Given the description of an element on the screen output the (x, y) to click on. 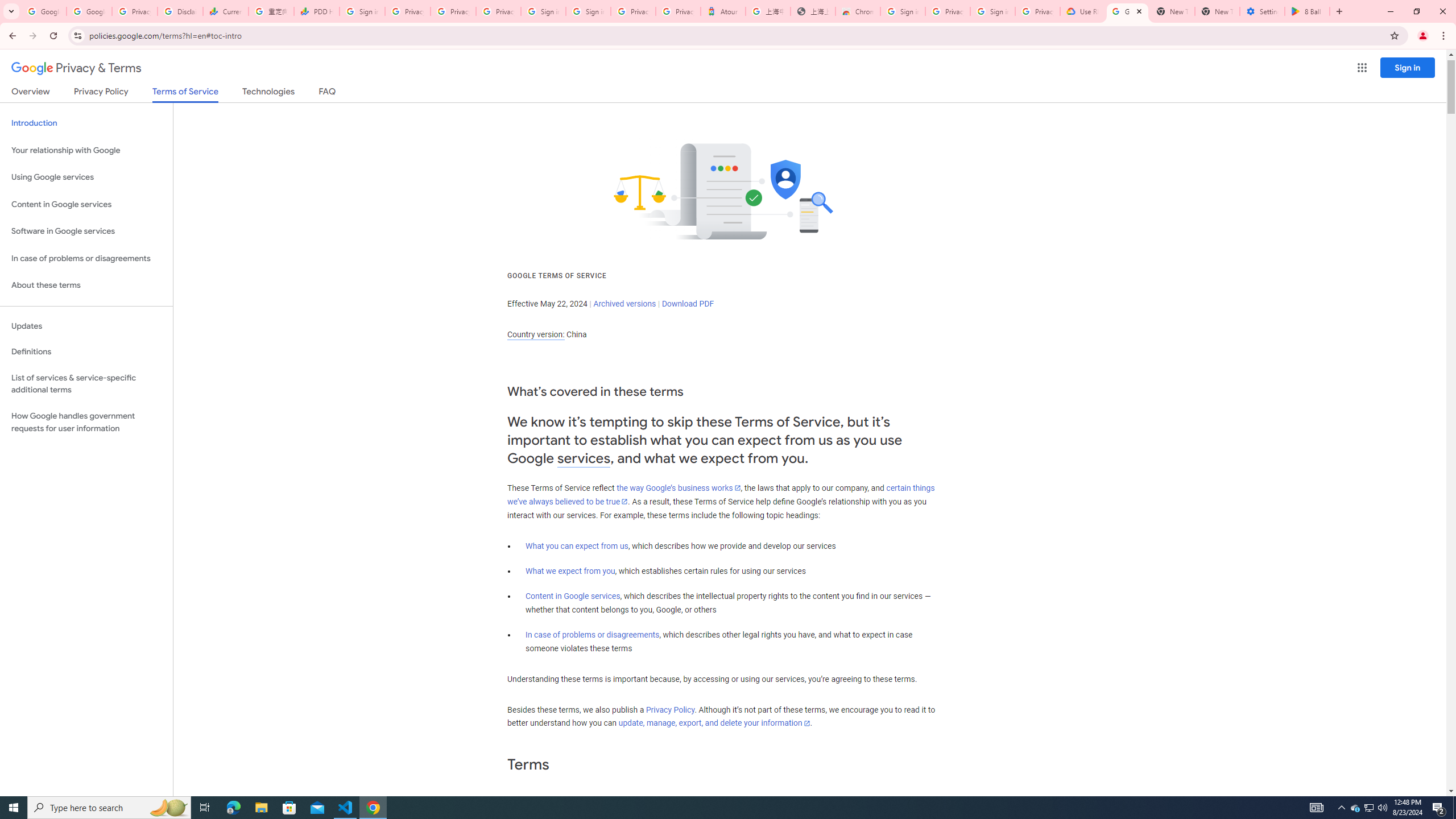
(CVPR24)Matching Anything by Segmenting Anything.pdf (1275, 184)
2301.12597v3.pdf (1405, 178)
VMware Workstation Pro (32, 563)
Something.md (1405, 557)
